Given the description of an element on the screen output the (x, y) to click on. 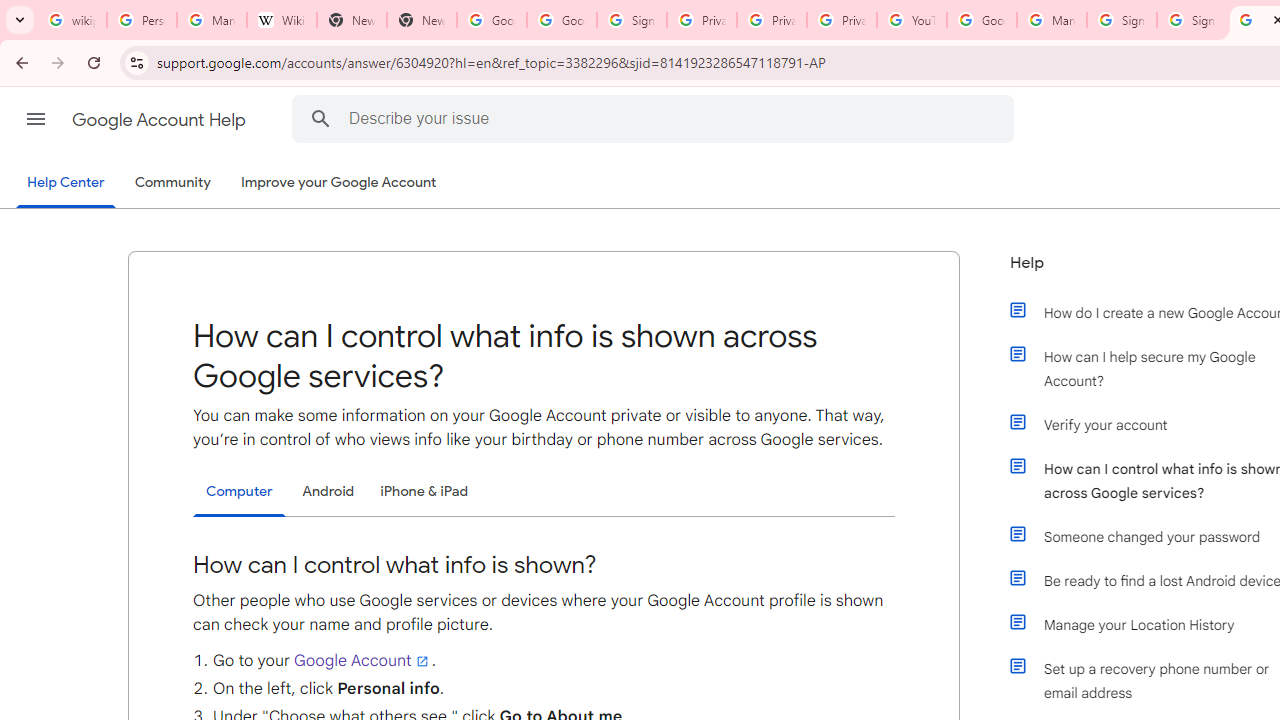
New Tab (351, 20)
Manage your Location History - Google Search Help (211, 20)
Personalization & Google Search results - Google Search Help (141, 20)
Google Account Help (160, 119)
Sign in - Google Accounts (1121, 20)
Community (171, 183)
Google Account Help (982, 20)
iPhone & iPad (424, 491)
